Given the description of an element on the screen output the (x, y) to click on. 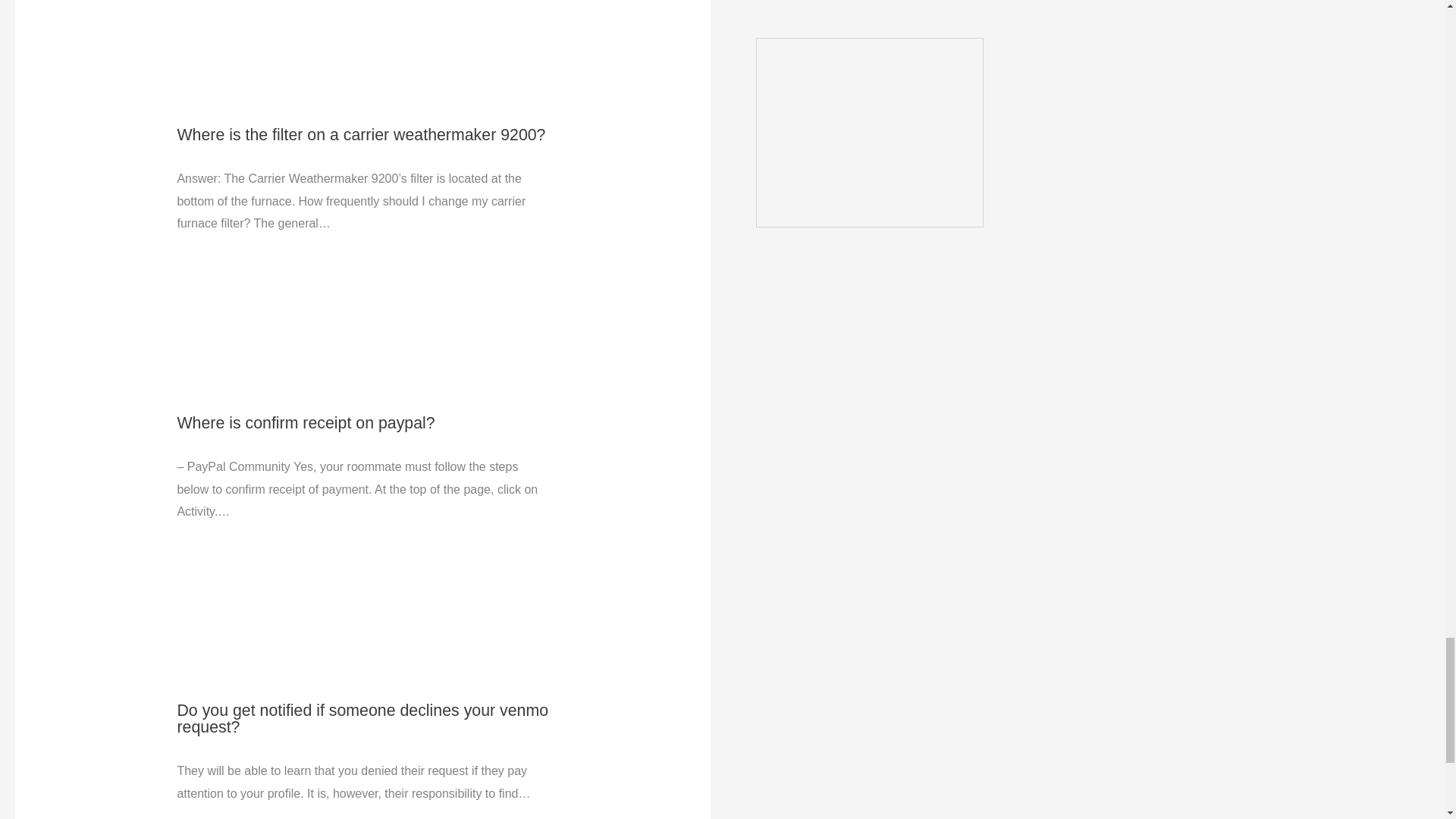
Do you get notified if someone declines your venmo request? (362, 718)
Where is the filter on a carrier weathermaker 9200? (360, 135)
Where is confirm receipt on paypal? (304, 423)
